Given the description of an element on the screen output the (x, y) to click on. 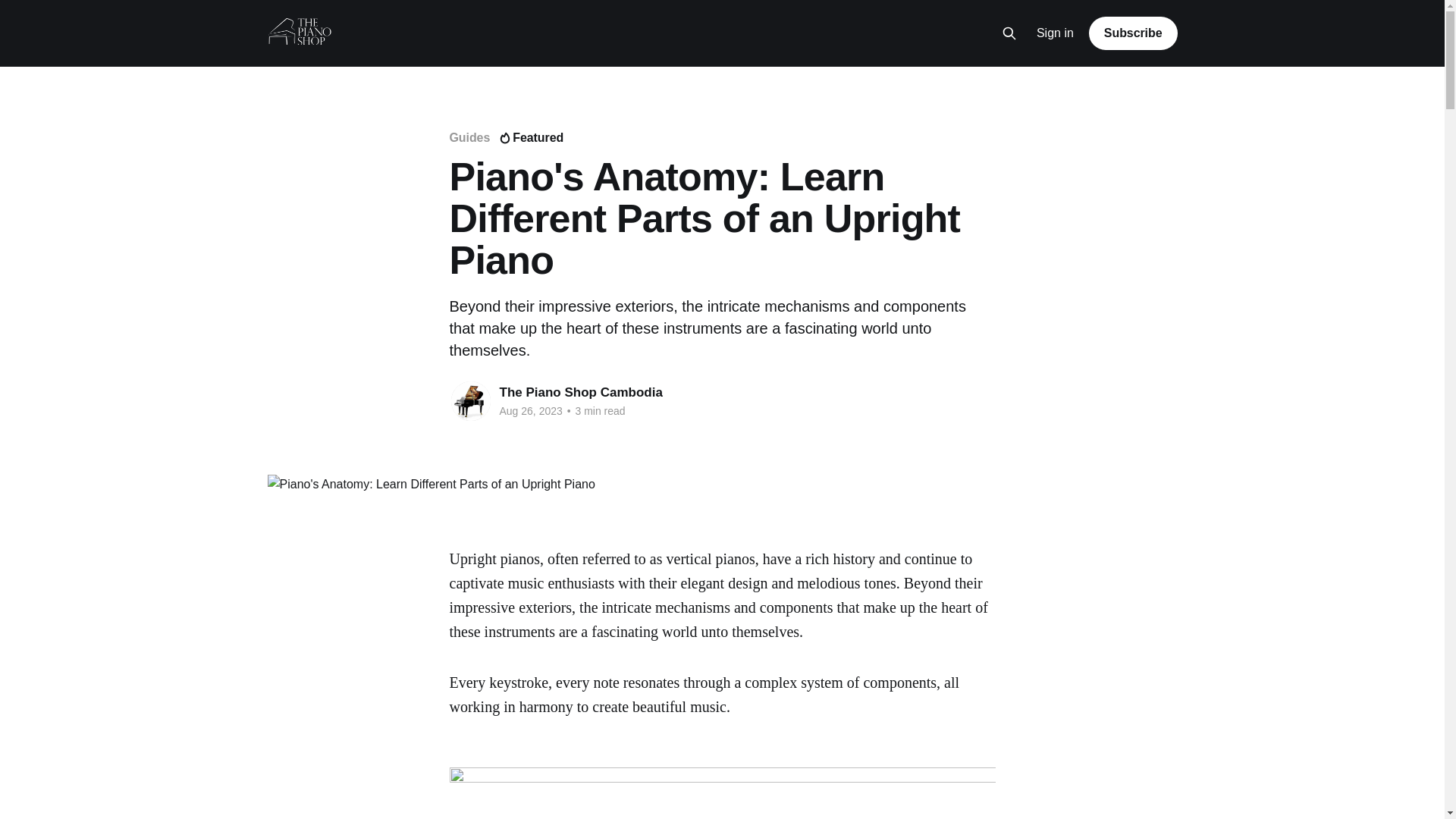
Guides (468, 137)
The Piano Shop Cambodia (580, 391)
Sign in (1055, 33)
Subscribe (1133, 32)
